Given the description of an element on the screen output the (x, y) to click on. 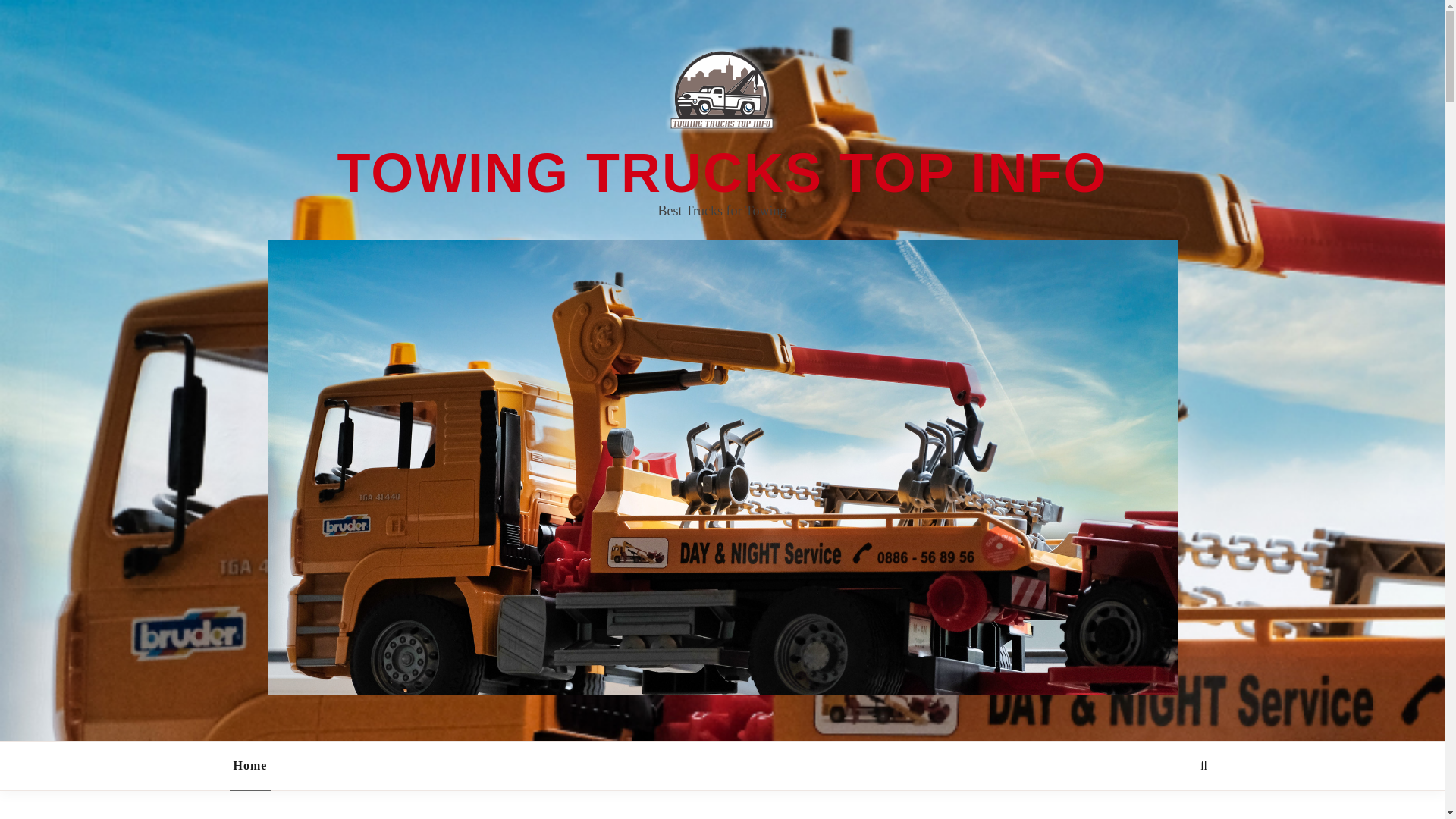
TOWING TRUCKS TOP INFO (721, 172)
